Given the description of an element on the screen output the (x, y) to click on. 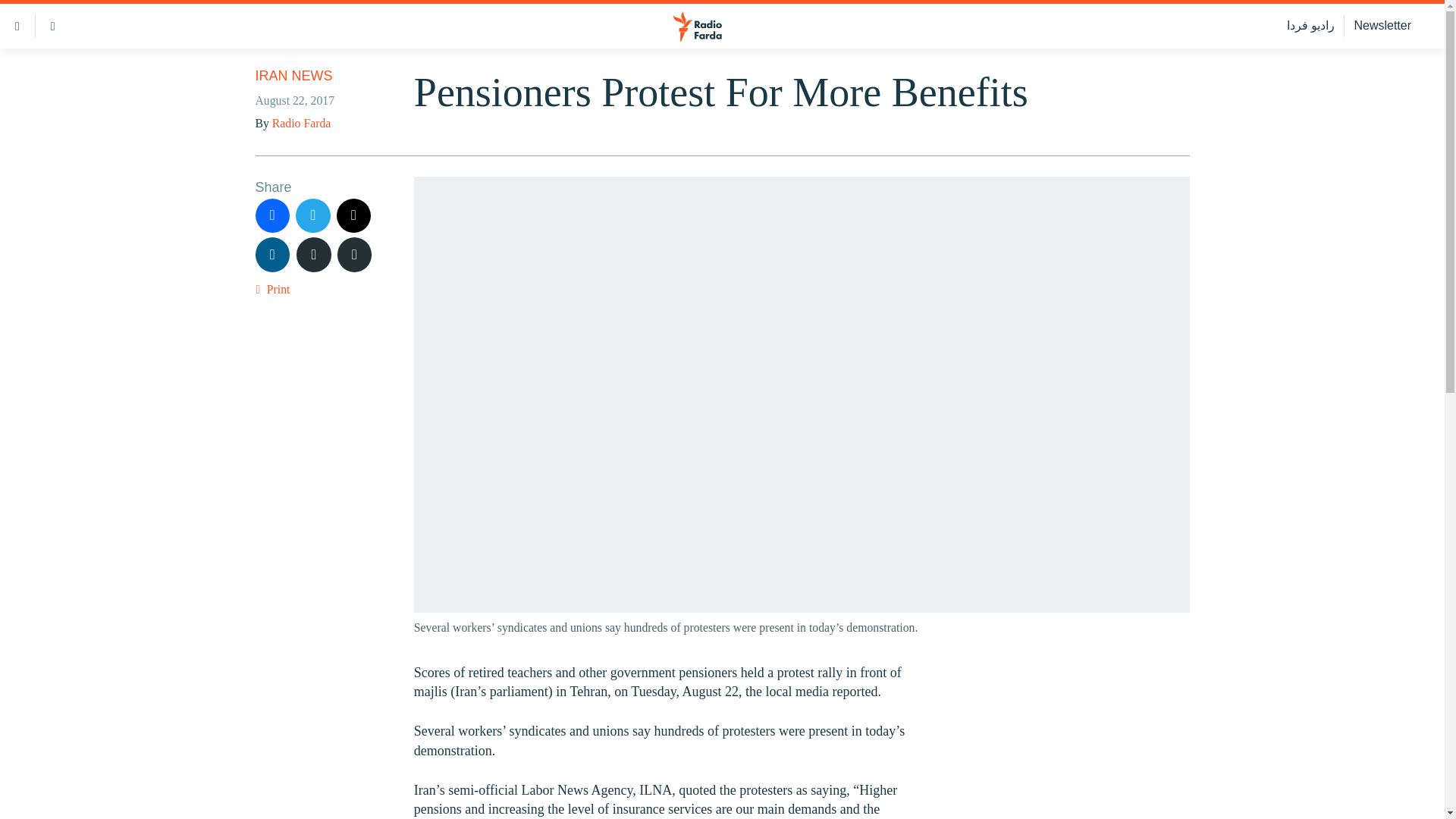
text (314, 254)
Newsletter (1382, 25)
Radio Farda (301, 123)
Newsletter (1382, 25)
IRAN NEWS (292, 75)
